Given the description of an element on the screen output the (x, y) to click on. 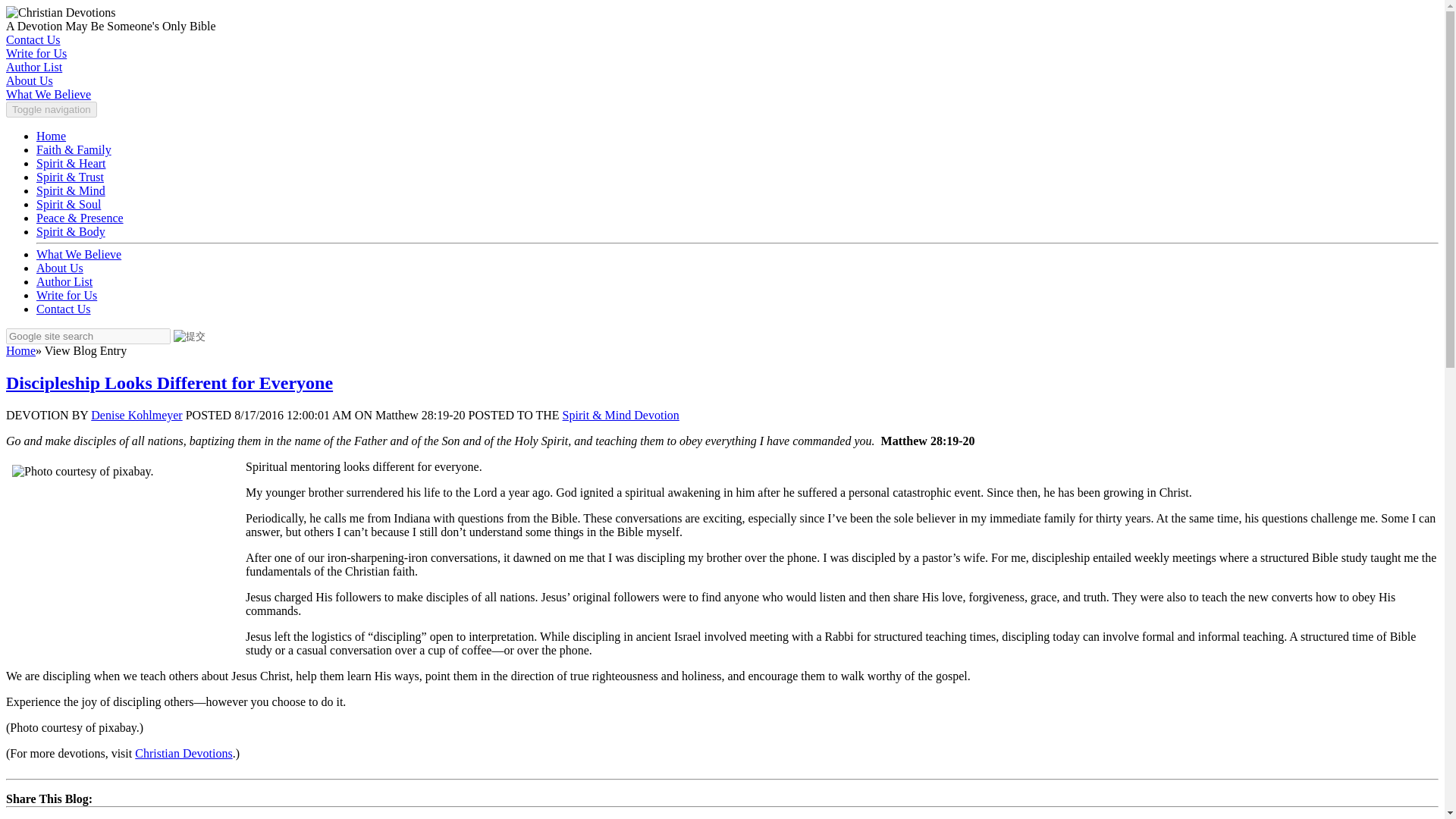
Discipleship Looks Different for Everyone (169, 383)
About Us (28, 80)
Christian Devotions (183, 753)
Write for Us (35, 52)
Write for Us (66, 295)
Contact Us (33, 39)
Posts by DeniseKohlmeyer (136, 414)
Contact Us (63, 308)
Denise Kohlmeyer (136, 414)
Home (50, 135)
